Given the description of an element on the screen output the (x, y) to click on. 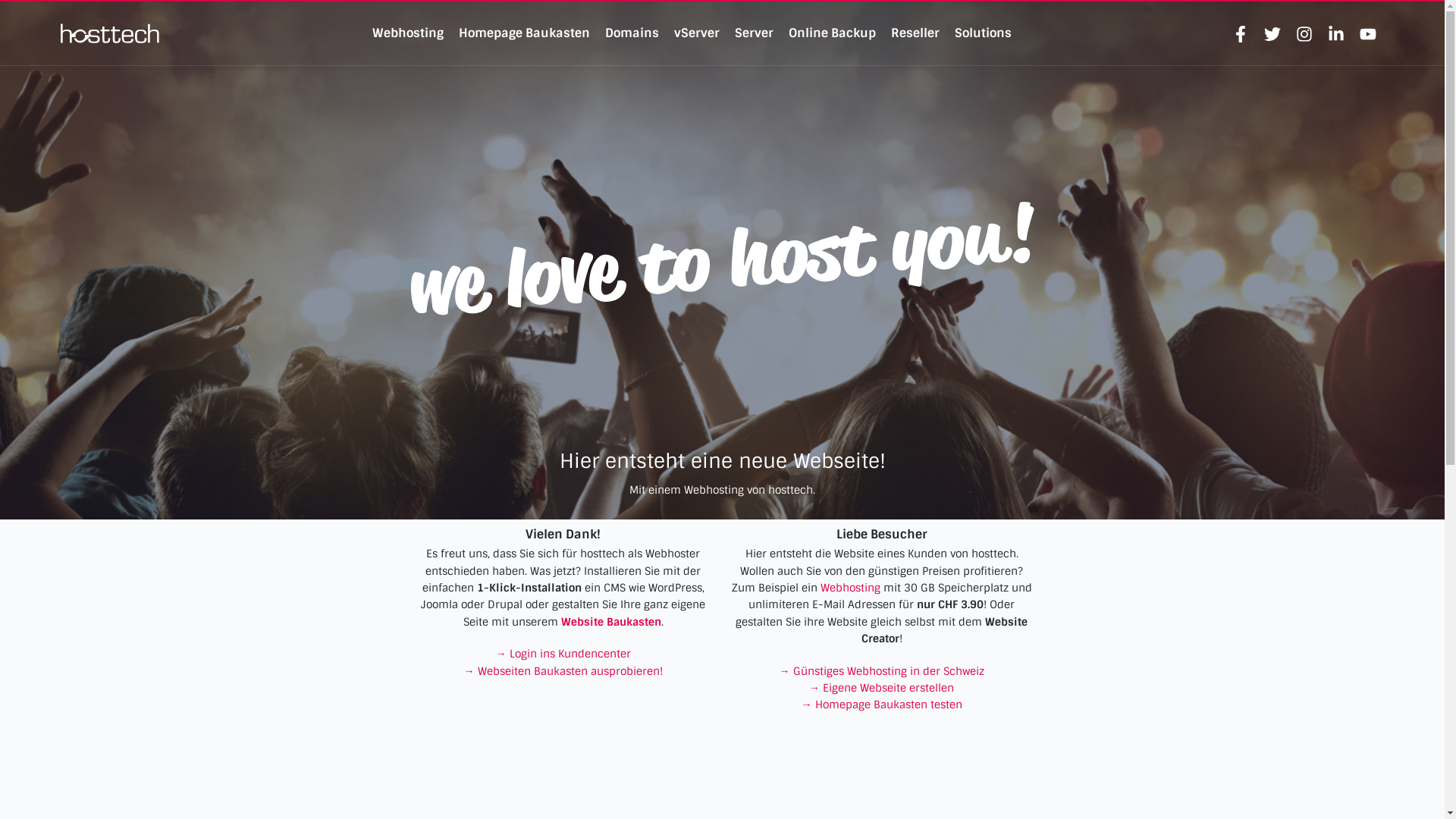
Website Baukasten Element type: text (611, 621)
Online Backup Element type: text (831, 32)
Webhosting Element type: text (850, 587)
Reseller Element type: text (915, 32)
Homepage Baukasten Element type: text (523, 32)
Solutions Element type: text (982, 32)
Domains Element type: text (631, 32)
Webhosting Element type: text (407, 32)
Server Element type: text (753, 32)
vServer Element type: text (696, 32)
